Given the description of an element on the screen output the (x, y) to click on. 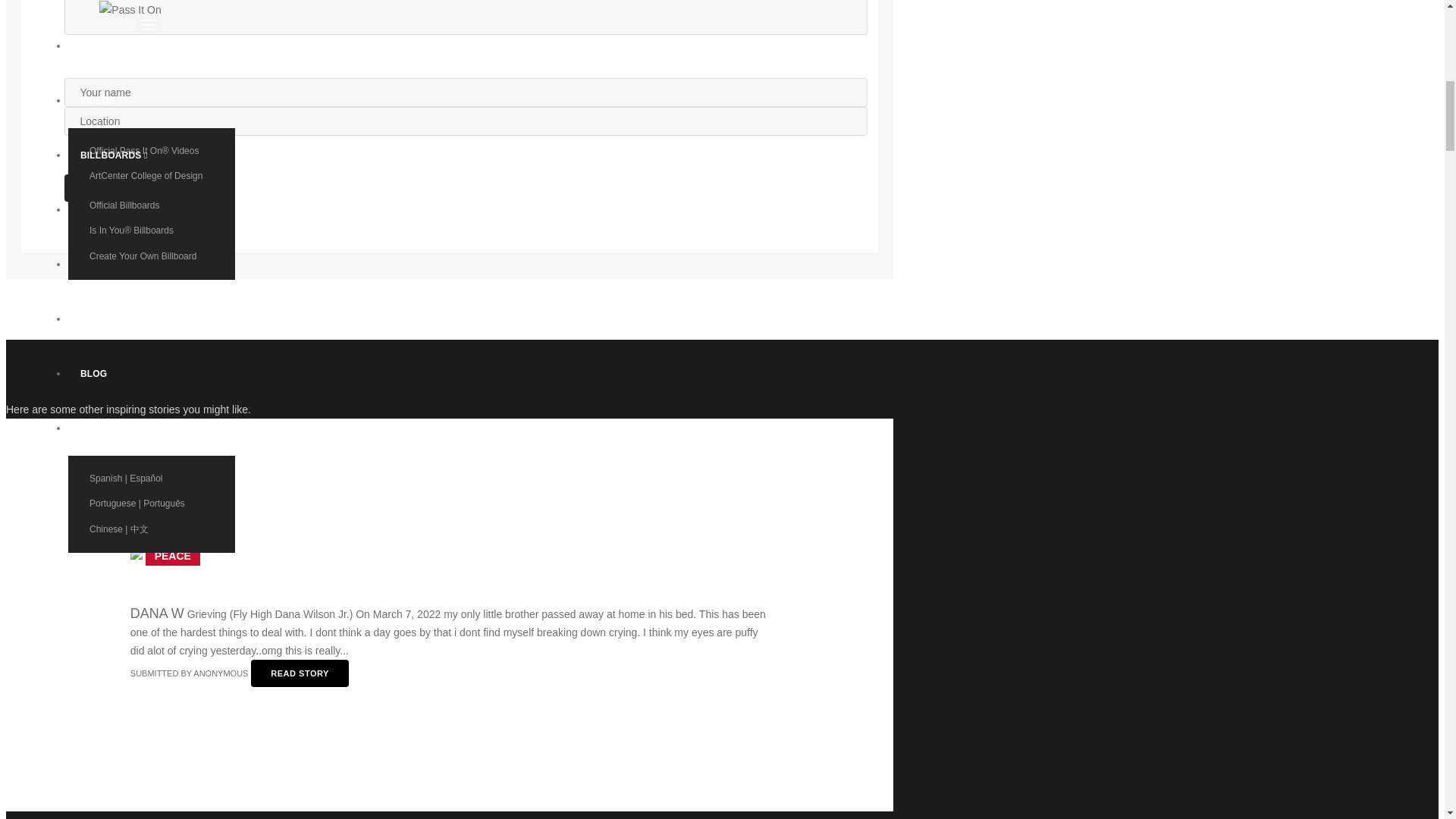
PEACE (172, 555)
Add Comment (117, 187)
Add Comment (117, 187)
READ STORY (299, 673)
